Given the description of an element on the screen output the (x, y) to click on. 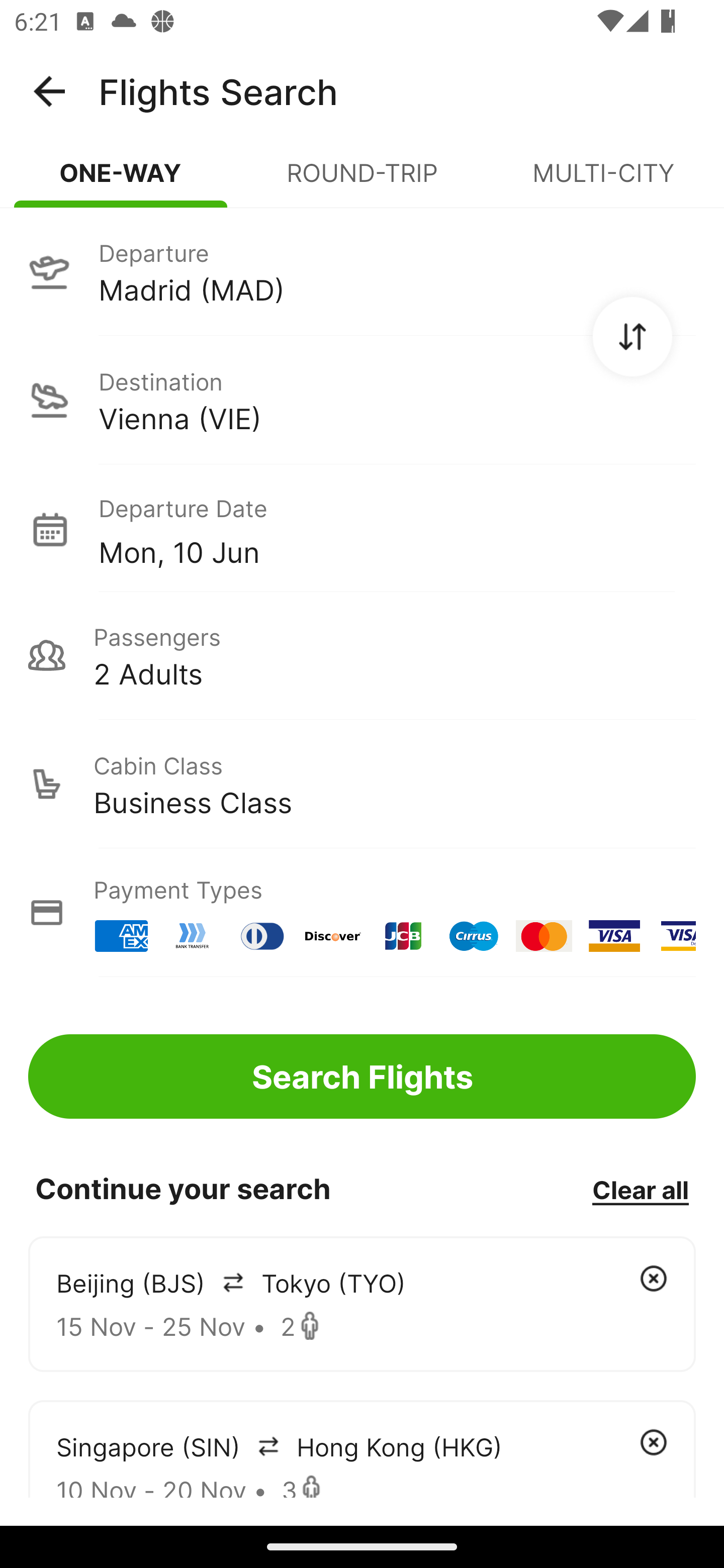
ONE-WAY (120, 180)
ROUND-TRIP (361, 180)
MULTI-CITY (603, 180)
Departure Madrid (MAD) (362, 270)
Destination Vienna (VIE) (362, 400)
Departure Date Mon, 10 Jun (396, 528)
Passengers 2 Adults (362, 655)
Cabin Class Business Class (362, 783)
Payment Types (362, 912)
Search Flights (361, 1075)
Clear all (640, 1189)
